Given the description of an element on the screen output the (x, y) to click on. 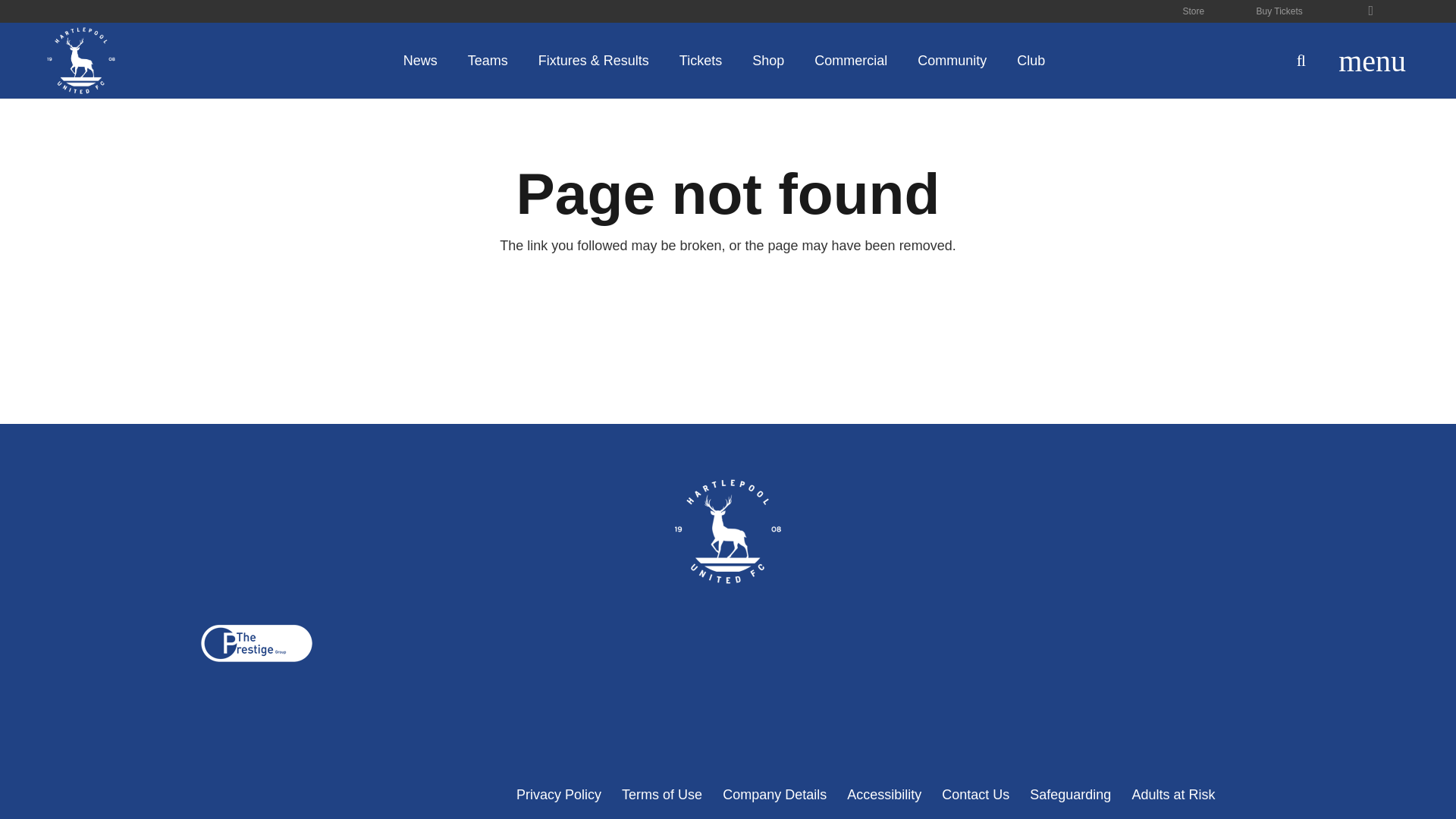
Store (1193, 12)
Teams (487, 60)
Buy Tickets (1279, 12)
Tickets (699, 60)
Commercial (850, 60)
